Given the description of an element on the screen output the (x, y) to click on. 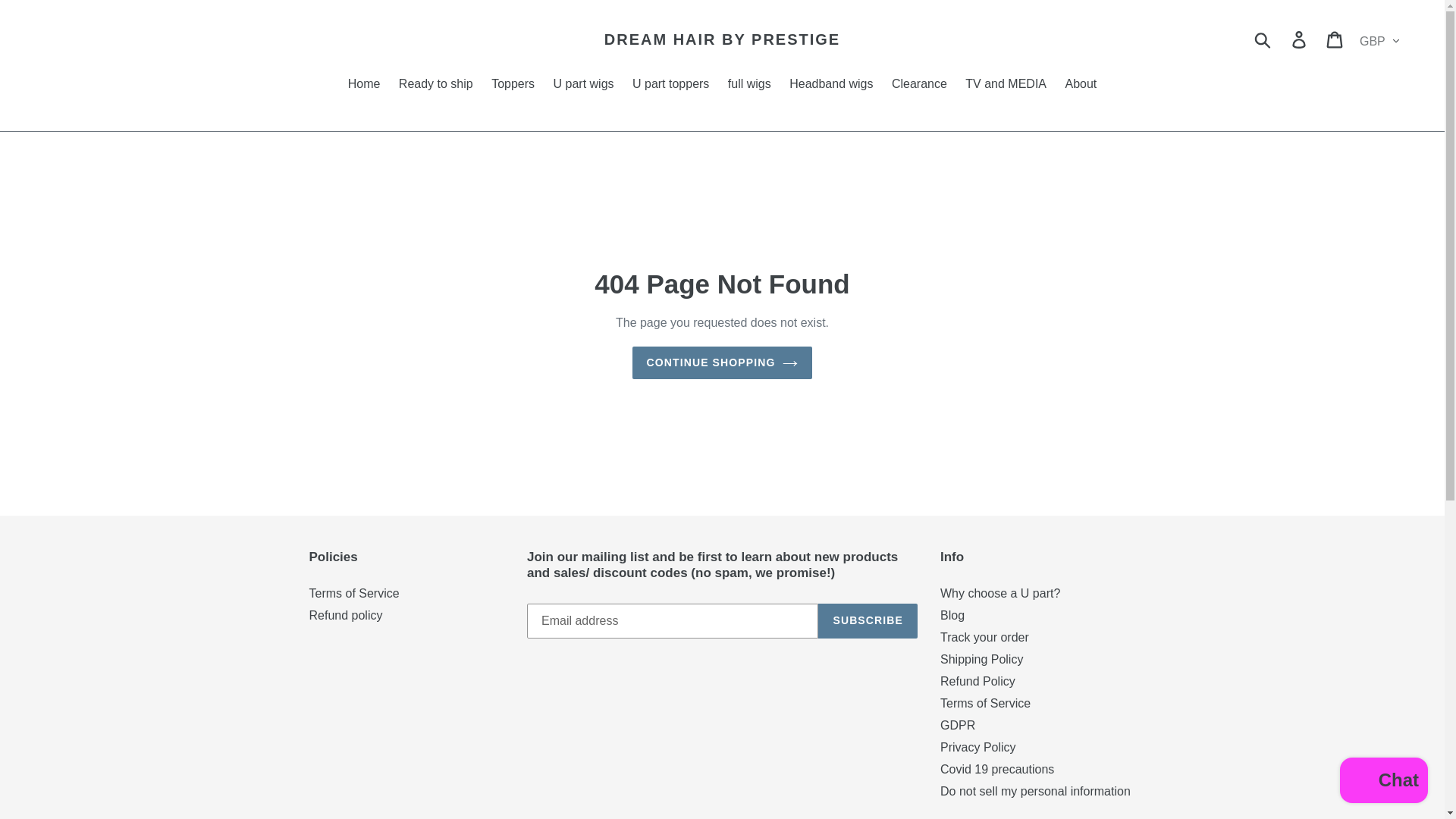
TV and MEDIA (1006, 85)
Shopify online store chat (1383, 781)
Track your order (984, 636)
U part wigs (583, 85)
Toppers (512, 85)
Refund policy (345, 615)
Log in (1299, 39)
U part toppers (670, 85)
Blog (951, 615)
Shipping Policy (981, 658)
